Given the description of an element on the screen output the (x, y) to click on. 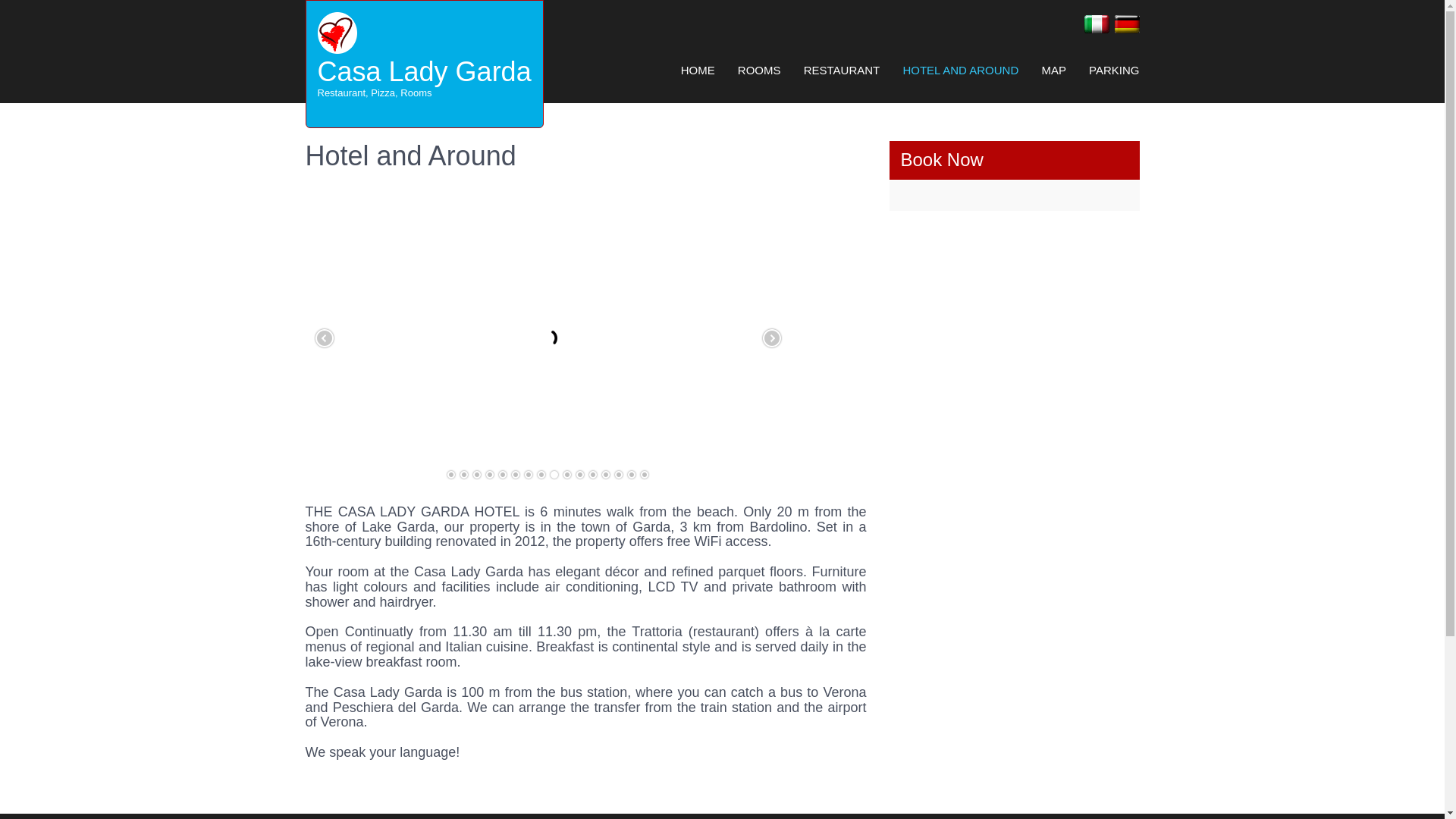
HOME (424, 71)
RESTAURANT (698, 70)
ROOMS (841, 70)
MAP (759, 70)
PARKING (1052, 70)
HOTEL AND AROUND (1108, 70)
